Given the description of an element on the screen output the (x, y) to click on. 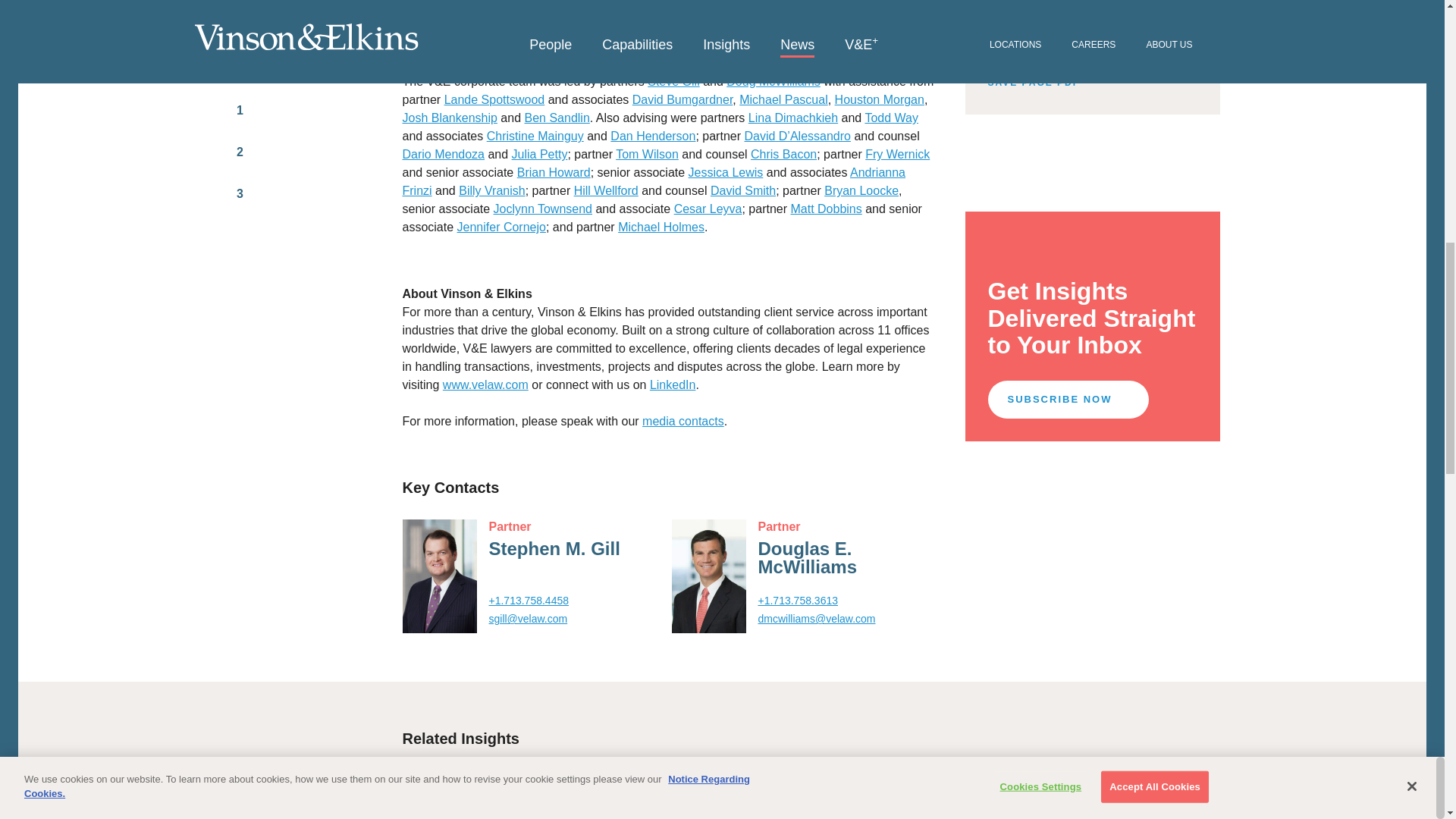
Chris Bacon (783, 154)
Ben Sandlin (556, 117)
Julia Petty (539, 154)
Doug McWilliams (773, 81)
Josh Blankenship (448, 117)
Dario Mendoza (442, 154)
Fry Wernick (897, 154)
Todd Way (891, 117)
Michael Pascual (783, 99)
Lina Dimachkieh (793, 117)
